Given the description of an element on the screen output the (x, y) to click on. 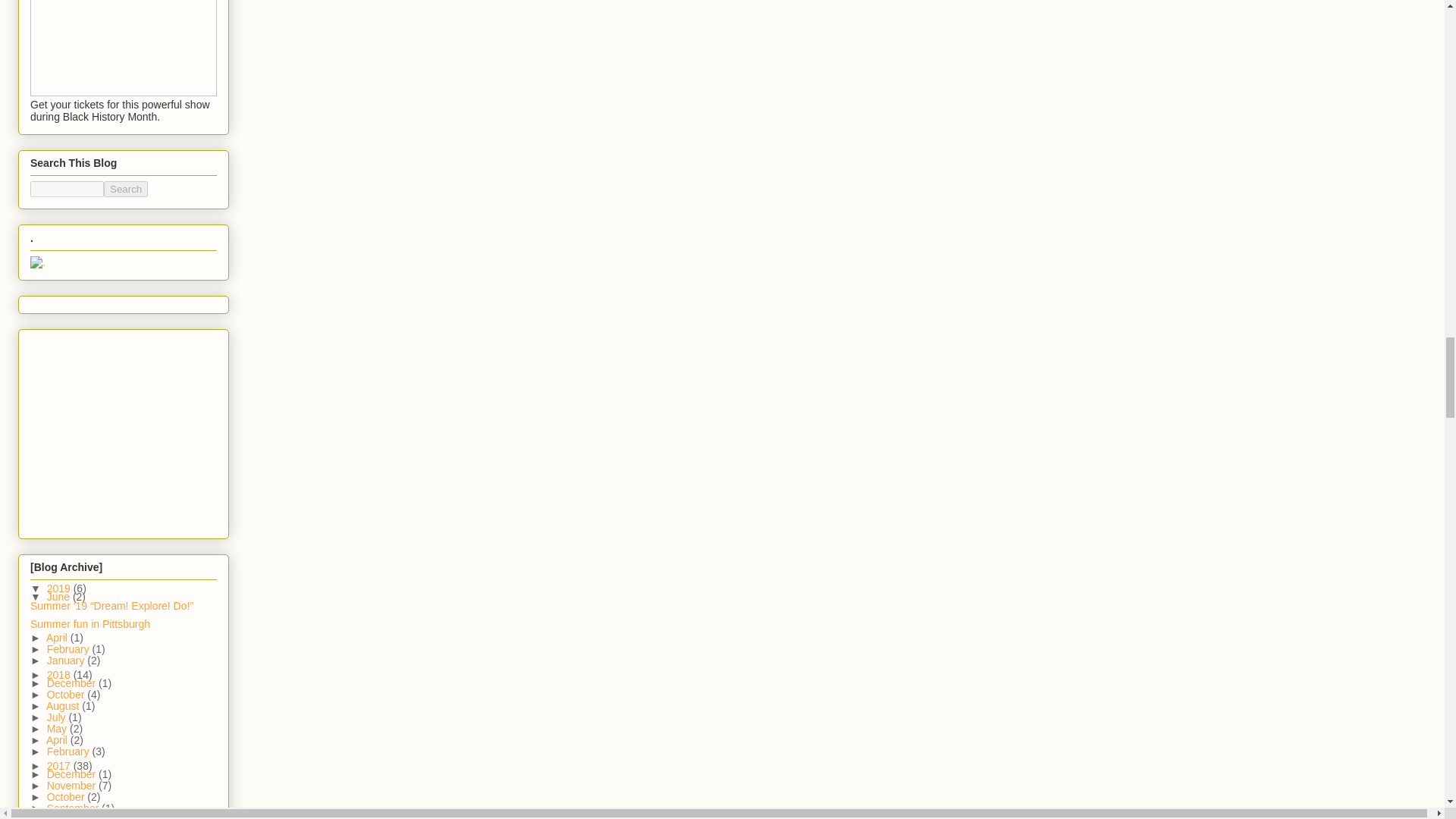
Search (125, 188)
search (66, 188)
search (125, 188)
Search (125, 188)
